Given the description of an element on the screen output the (x, y) to click on. 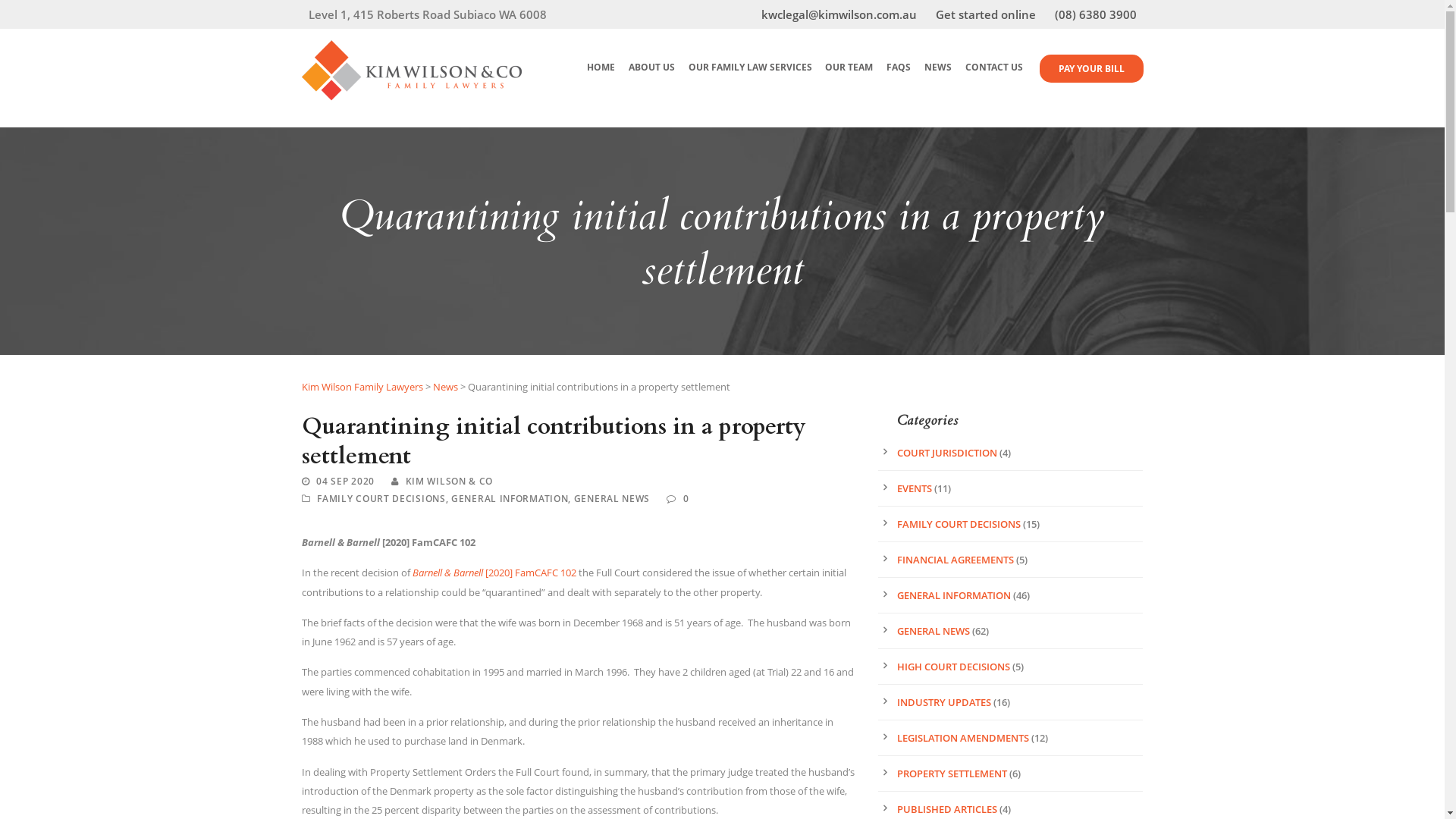
Kim Wilson Family Lawyers Element type: text (362, 386)
GENERAL NEWS Element type: text (611, 498)
FAMILY COURT DECISIONS Element type: text (957, 523)
CONTACT US Element type: text (991, 77)
COURT JURISDICTION Element type: text (946, 452)
News Element type: text (444, 386)
INDUSTRY UPDATES Element type: text (943, 702)
GENERAL INFORMATION Element type: text (953, 595)
EVENTS Element type: text (913, 488)
Get started online Element type: text (994, 13)
Barnell & Barnell [2020] FamCAFC 102 Element type: text (494, 572)
FAQS Element type: text (896, 77)
GENERAL NEWS Element type: text (932, 630)
FINANCIAL AGREEMENTS Element type: text (954, 559)
OUR FAMILY LAW SERVICES Element type: text (747, 77)
ABOUT US Element type: text (649, 77)
HIGH COURT DECISIONS Element type: text (952, 666)
PAY YOUR BILL Element type: text (1090, 68)
KIM WILSON & CO Element type: text (449, 480)
(08) 6380 3900 Element type: text (1094, 13)
0 Element type: text (686, 498)
HOME Element type: text (599, 77)
NEWS Element type: text (935, 77)
OUR TEAM Element type: text (847, 77)
FAMILY COURT DECISIONS Element type: text (380, 498)
GENERAL INFORMATION Element type: text (509, 498)
PROPERTY SETTLEMENT Element type: text (951, 773)
LEGISLATION AMENDMENTS Element type: text (962, 737)
04 SEP 2020 Element type: text (345, 480)
PUBLISHED ARTICLES Element type: text (946, 808)
kwclegal@kimwilson.com.au Element type: text (848, 13)
